Given the description of an element on the screen output the (x, y) to click on. 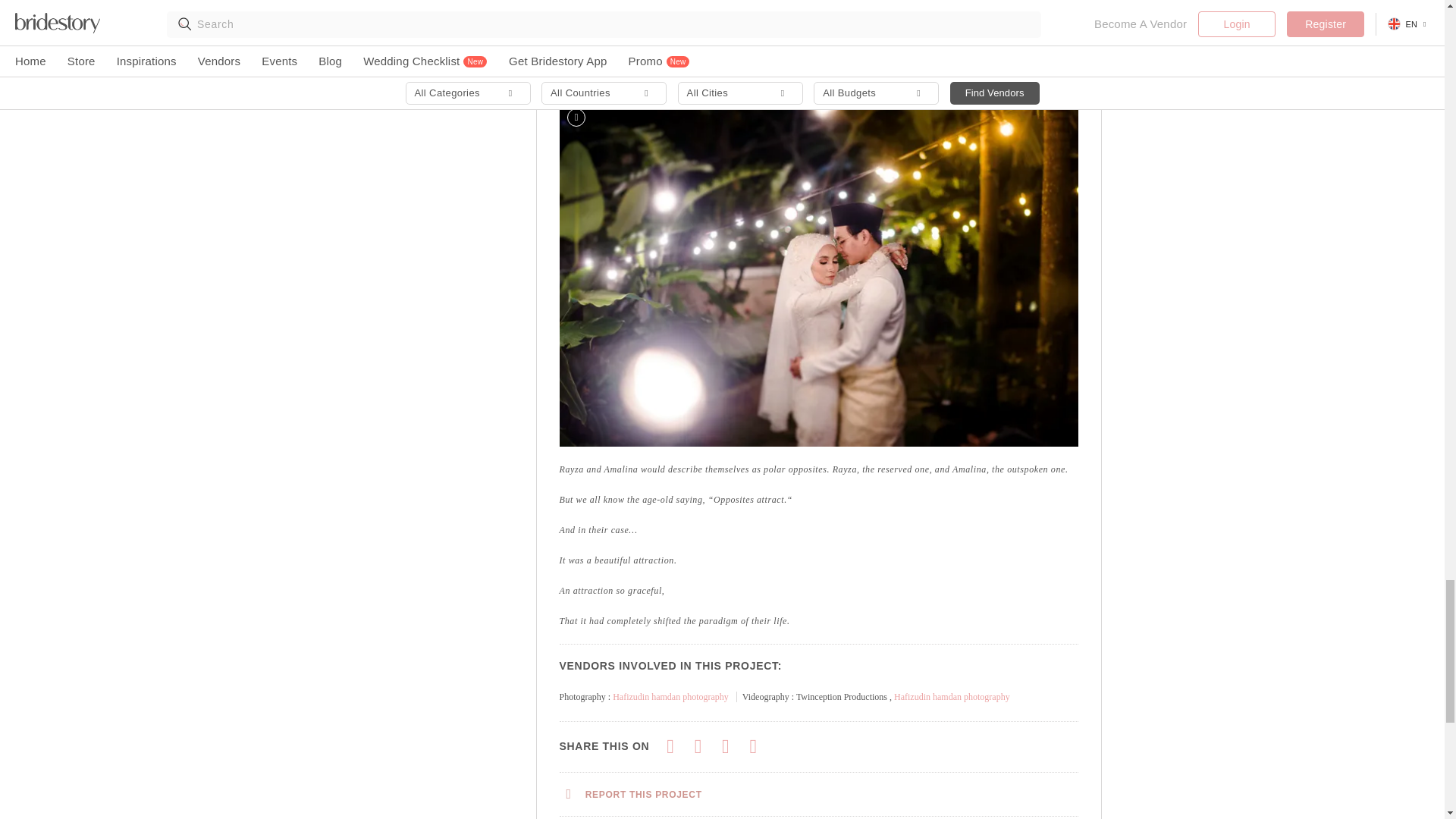
Paradigma by Hafizudin hamdan photography - 005 (818, 46)
